Given the description of an element on the screen output the (x, y) to click on. 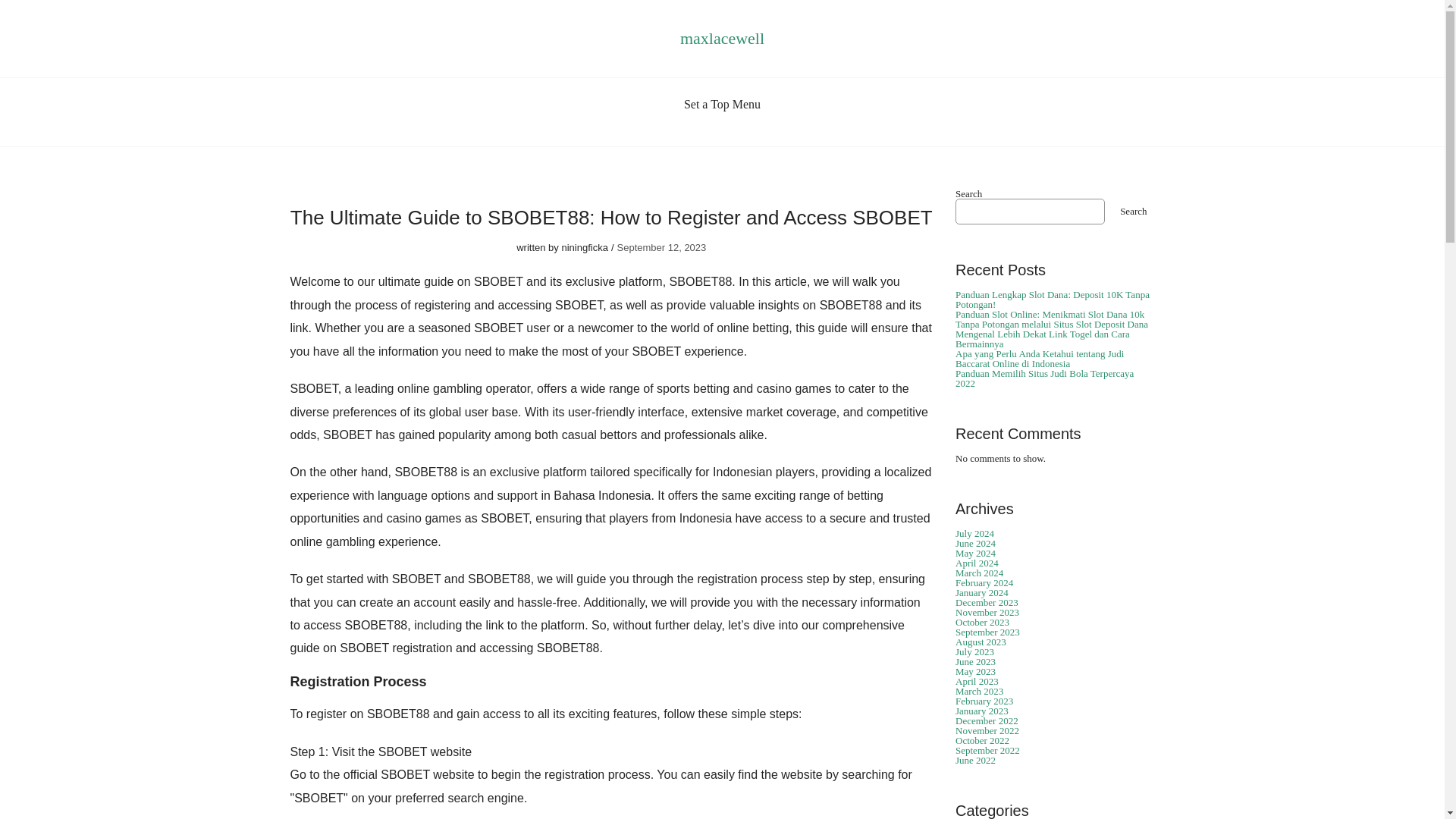
June 2024 (975, 542)
March 2023 (979, 690)
October 2023 (982, 622)
November 2022 (987, 730)
Mengenal Lebih Dekat Link Togel dan Cara Bermainnya (1042, 338)
July 2023 (974, 651)
Panduan Memilih Situs Judi Bola Terpercaya 2022 (1044, 378)
July 2024 (974, 532)
October 2022 (982, 740)
April 2024 (976, 562)
April 2023 (976, 681)
February 2024 (984, 582)
December 2022 (986, 720)
maxlacewell (721, 38)
